Given the description of an element on the screen output the (x, y) to click on. 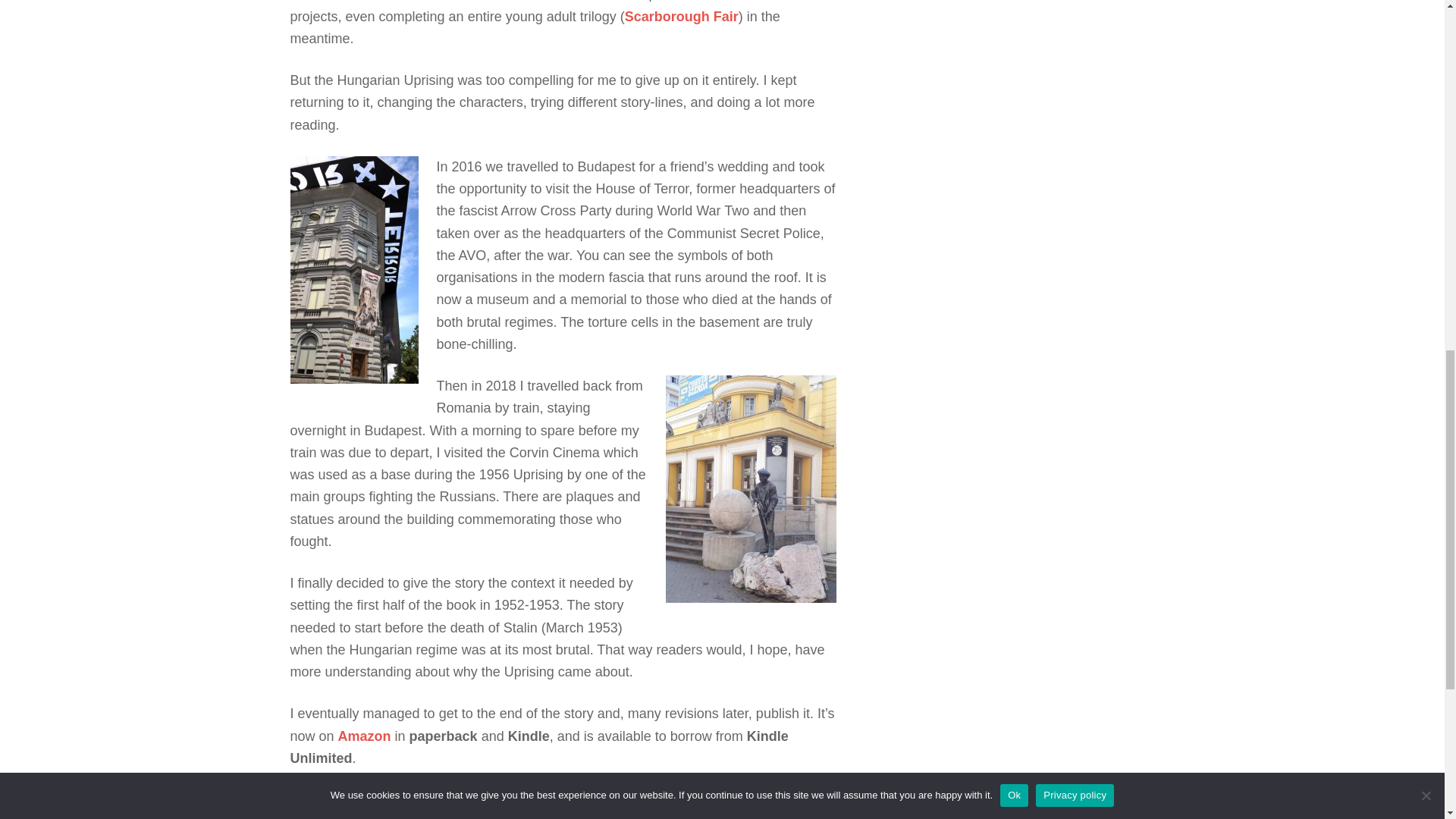
Scarborough Fair (681, 16)
Books (376, 798)
Amazon (364, 735)
Travel (415, 798)
